Given the description of an element on the screen output the (x, y) to click on. 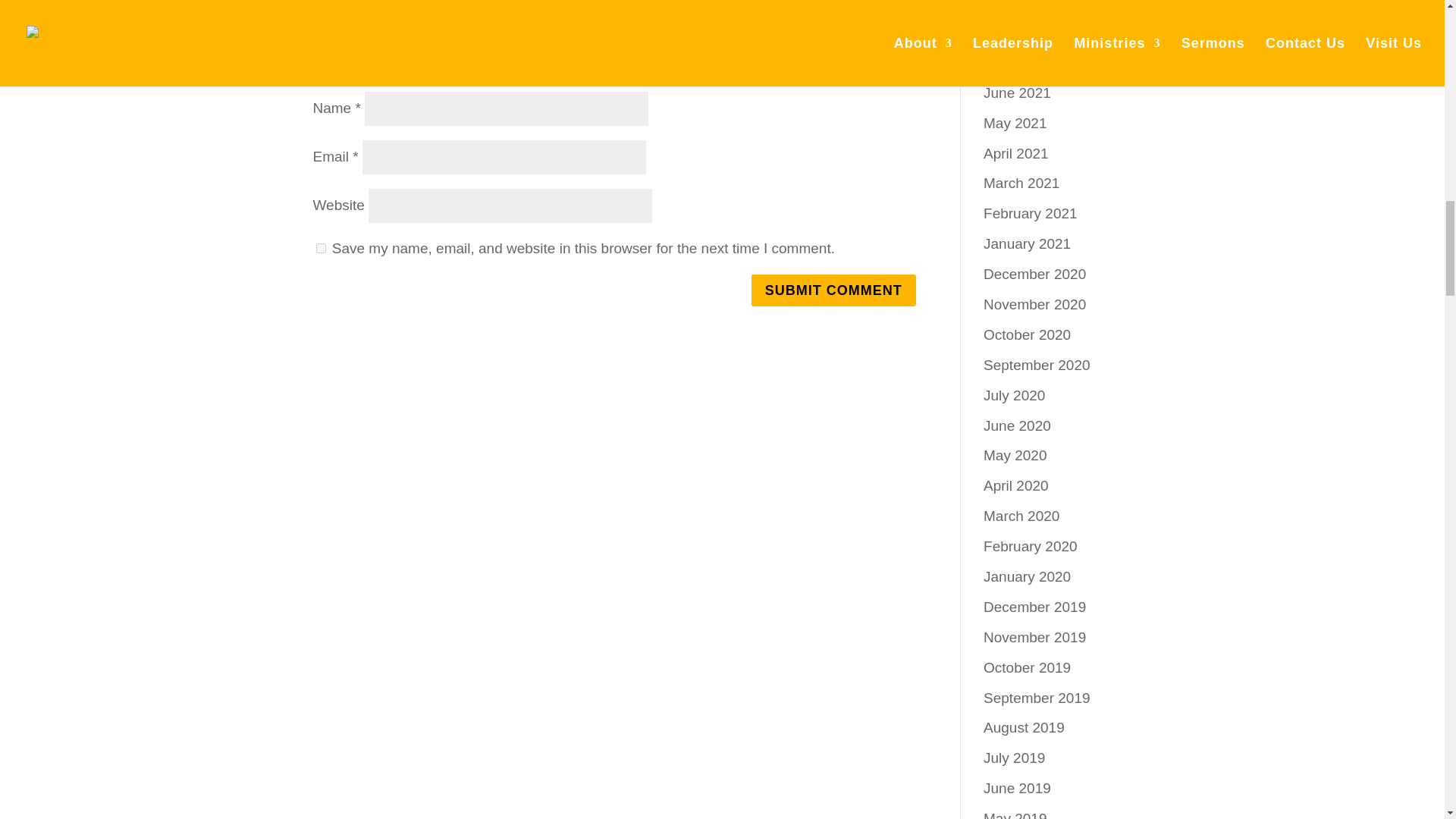
yes (319, 248)
Submit Comment (833, 289)
Submit Comment (833, 289)
